Given the description of an element on the screen output the (x, y) to click on. 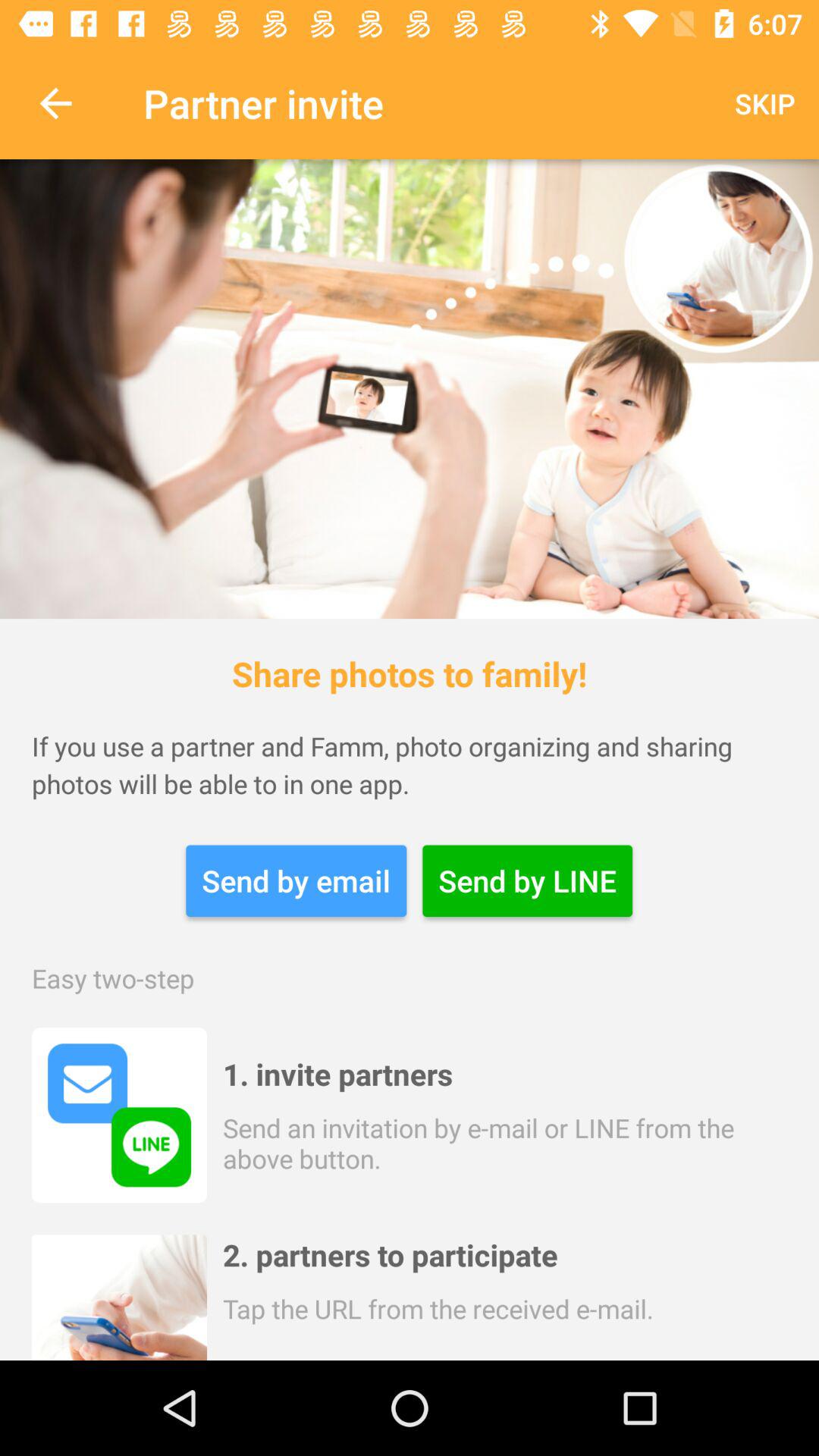
turn off icon at the top right corner (764, 103)
